Given the description of an element on the screen output the (x, y) to click on. 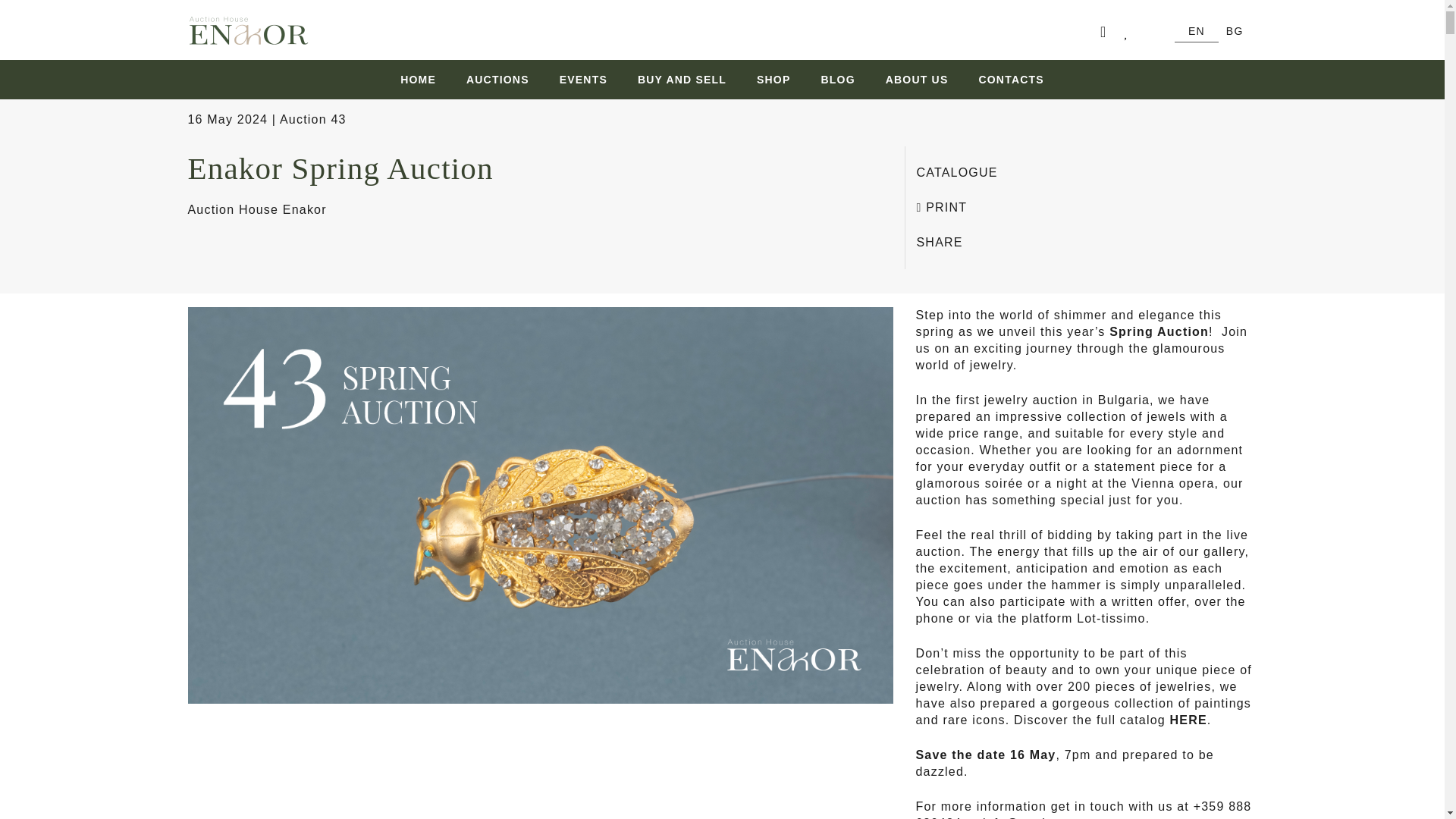
SHARE (938, 241)
AUCTIONS (497, 79)
BUY AND SELL (682, 79)
EN (1196, 30)
BLOG (837, 79)
HERE (1188, 719)
BG (1234, 30)
SHOP (773, 79)
ENAKOR (247, 39)
CONTACTS (1002, 79)
CATALOGUE (956, 172)
Wishlist (1129, 31)
Profile (1106, 31)
Enakor Spring Auction (340, 167)
